Given the description of an element on the screen output the (x, y) to click on. 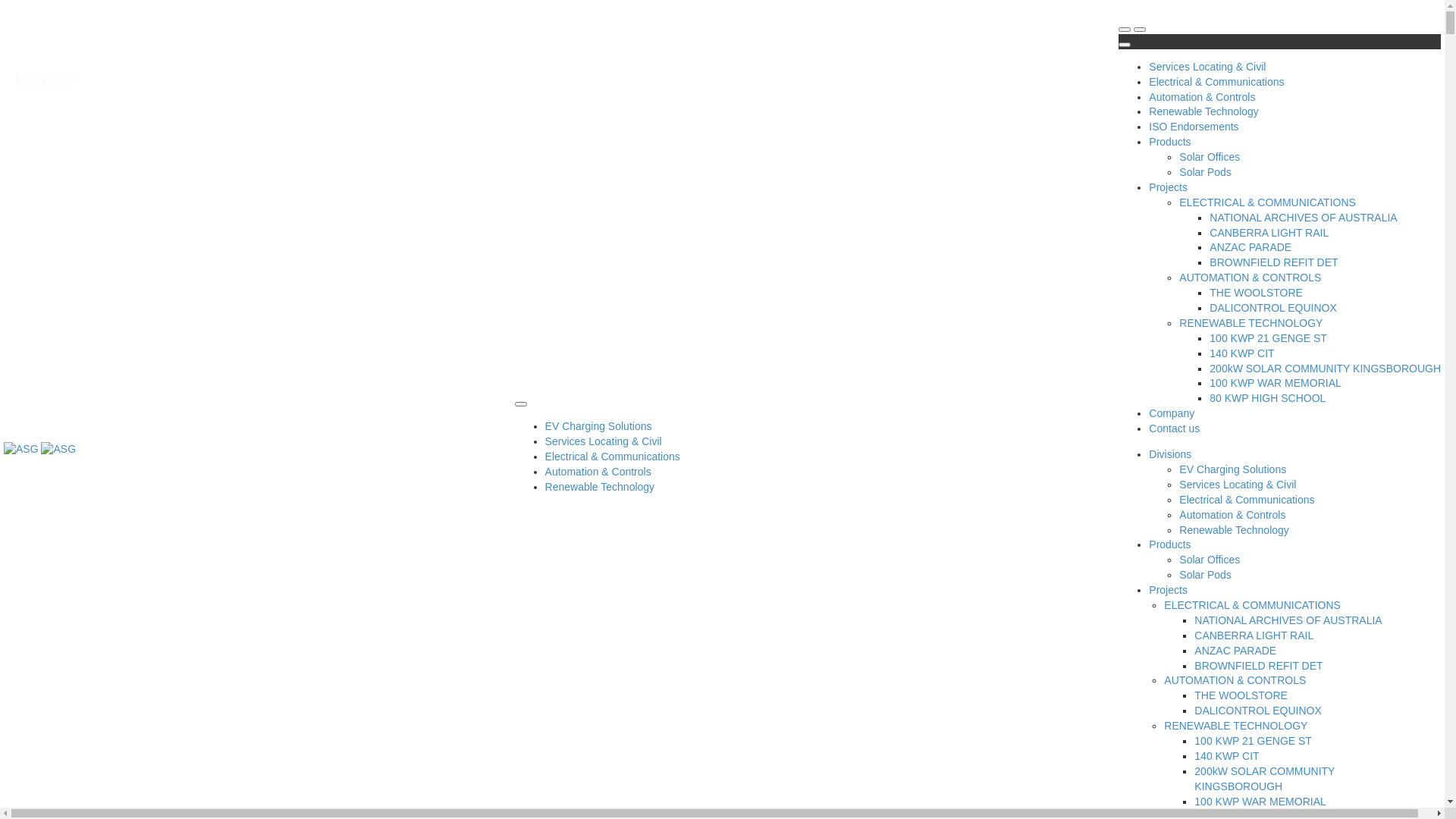
NATIONAL ARCHIVES OF AUSTRALIA Element type: text (1302, 217)
Automation & Controls Element type: text (1232, 514)
EV Charging Solutions Element type: text (1232, 469)
Divisions Element type: text (1169, 456)
100 KWP 21 GENGE ST Element type: text (1252, 740)
ANZAC PARADE Element type: text (1235, 650)
Electrical & Communications Element type: text (1246, 499)
Electrical & Communications Element type: text (612, 458)
100 KWP WAR MEMORIAL Element type: text (1259, 801)
100 KWP WAR MEMORIAL Element type: text (1274, 382)
ELECTRICAL & COMMUNICATIONS Element type: text (1267, 202)
Products Element type: text (1169, 546)
80 KWP HIGH SCHOOL Element type: text (1267, 398)
ISO Endorsements Element type: text (1193, 128)
Renewable Technology Element type: text (1234, 529)
Services Locating & Civil Element type: text (1237, 484)
DALICONTROL EQUINOX Element type: text (1257, 710)
ANZAC PARADE Element type: text (1250, 247)
ELECTRICAL & COMMUNICATIONS Element type: text (1252, 605)
BROWNFIELD REFIT DET Element type: text (1258, 665)
Company Element type: text (1171, 415)
RENEWABLE TECHNOLOGY Element type: text (1250, 322)
EV Charging Solutions Element type: text (598, 428)
Services Locating & Civil Element type: text (603, 443)
100 KWP 21 GENGE ST Element type: text (1268, 338)
Automation & Controls Element type: text (1201, 98)
THE WOOLSTORE Element type: text (1240, 695)
AUTOMATION & CONTROLS Element type: text (1250, 277)
NATIONAL ARCHIVES OF AUSTRALIA Element type: text (1287, 620)
Contact us Element type: text (1173, 430)
THE WOOLSTORE Element type: text (1255, 292)
DALICONTROL EQUINOX Element type: text (1272, 307)
Products Element type: text (1169, 143)
Renewable Technology Element type: text (600, 488)
Automation & Controls Element type: text (598, 473)
Solar Pods Element type: text (1204, 172)
140 KWP CIT Element type: text (1226, 755)
Solar Offices Element type: text (1209, 559)
200kW SOLAR COMMUNITY KINGSBOROUGH Element type: text (1324, 368)
Electrical & Communications Element type: text (1215, 83)
Projects Element type: text (1167, 189)
Solar Offices Element type: text (1209, 156)
CANBERRA LIGHT RAIL Element type: text (1253, 635)
Renewable Technology Element type: text (1203, 113)
AUTOMATION & CONTROLS Element type: text (1234, 680)
200kW SOLAR COMMUNITY KINGSBOROUGH Element type: text (1264, 778)
Projects Element type: text (1167, 591)
Services Locating & Civil Element type: text (1206, 68)
140 KWP CIT Element type: text (1241, 353)
Solar Pods Element type: text (1204, 574)
RENEWABLE TECHNOLOGY Element type: text (1235, 725)
CANBERRA LIGHT RAIL Element type: text (1268, 232)
BROWNFIELD REFIT DET Element type: text (1273, 262)
